Given the description of an element on the screen output the (x, y) to click on. 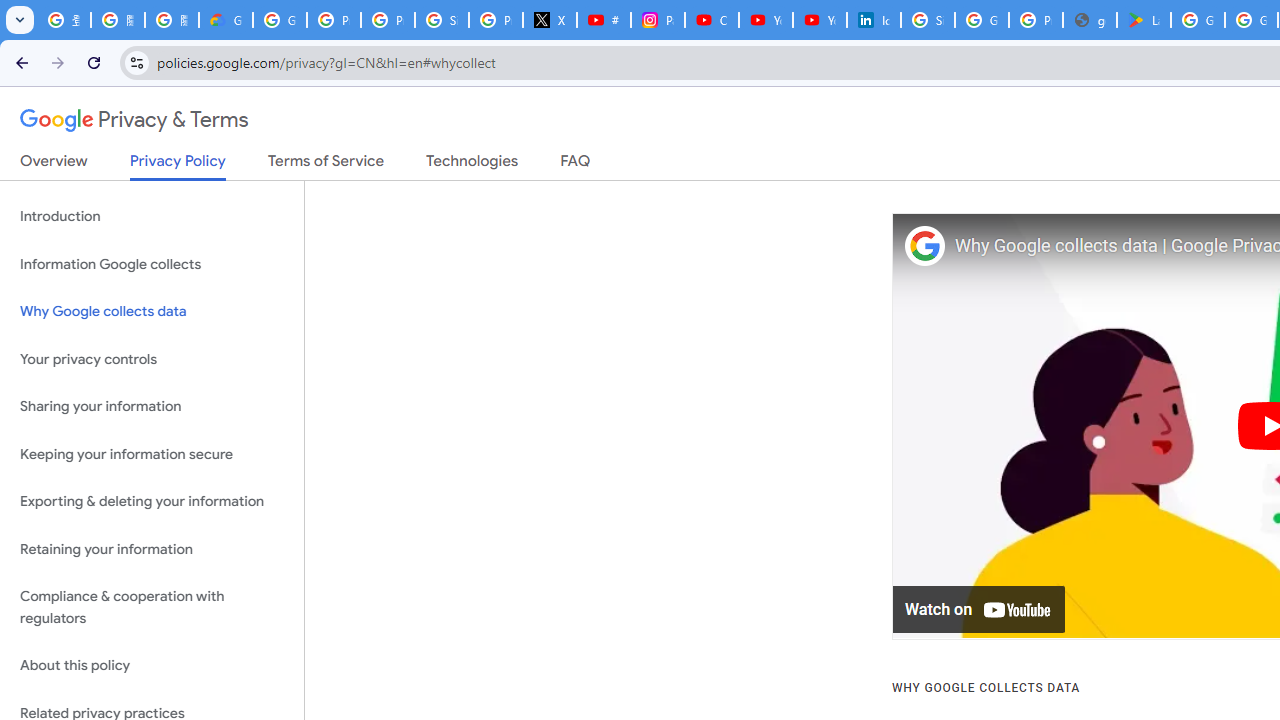
Exporting & deleting your information (152, 502)
FAQ (575, 165)
Overview (54, 165)
X (550, 20)
Why Google collects data (152, 312)
Retaining your information (152, 548)
Sign in - Google Accounts (441, 20)
Sharing your information (152, 407)
#nbabasketballhighlights - YouTube (604, 20)
